Given the description of an element on the screen output the (x, y) to click on. 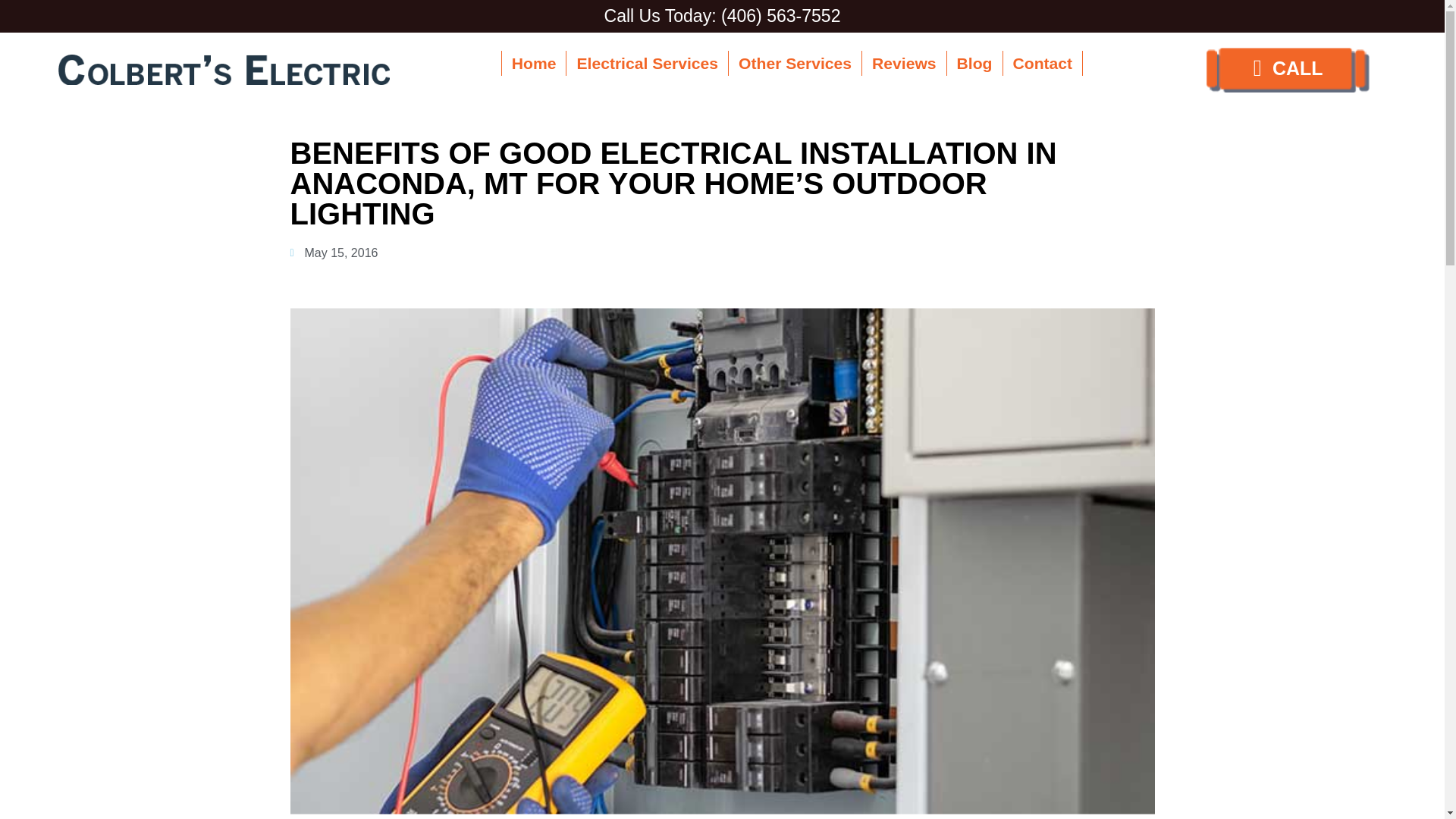
Home (533, 63)
Blog (975, 63)
Reviews (904, 63)
CALL (1287, 69)
Electrical Services (647, 63)
Other Services (795, 63)
May 15, 2016 (333, 253)
Contact (1043, 63)
